Given the description of an element on the screen output the (x, y) to click on. 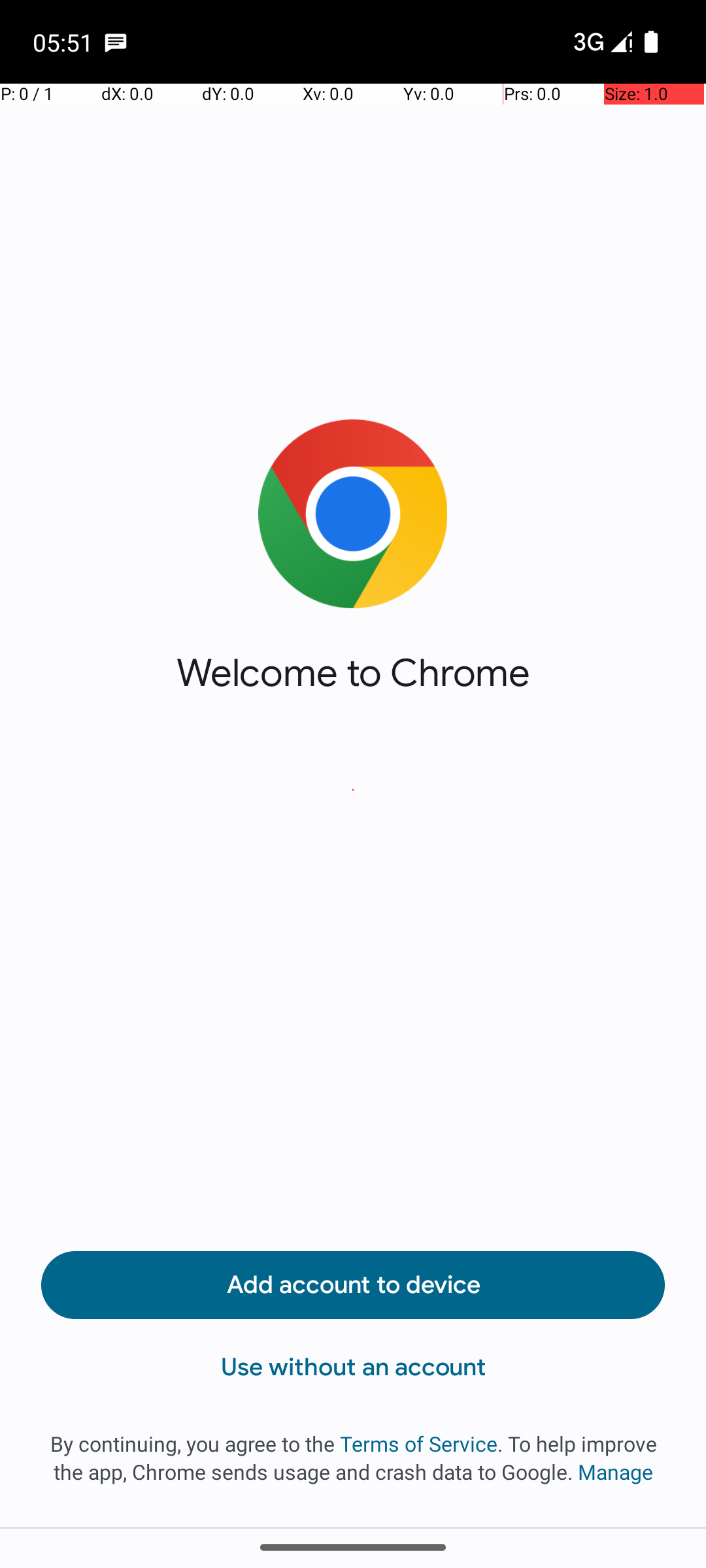
05:51 Element type: android.widget.TextView (64, 41)
